Given the description of an element on the screen output the (x, y) to click on. 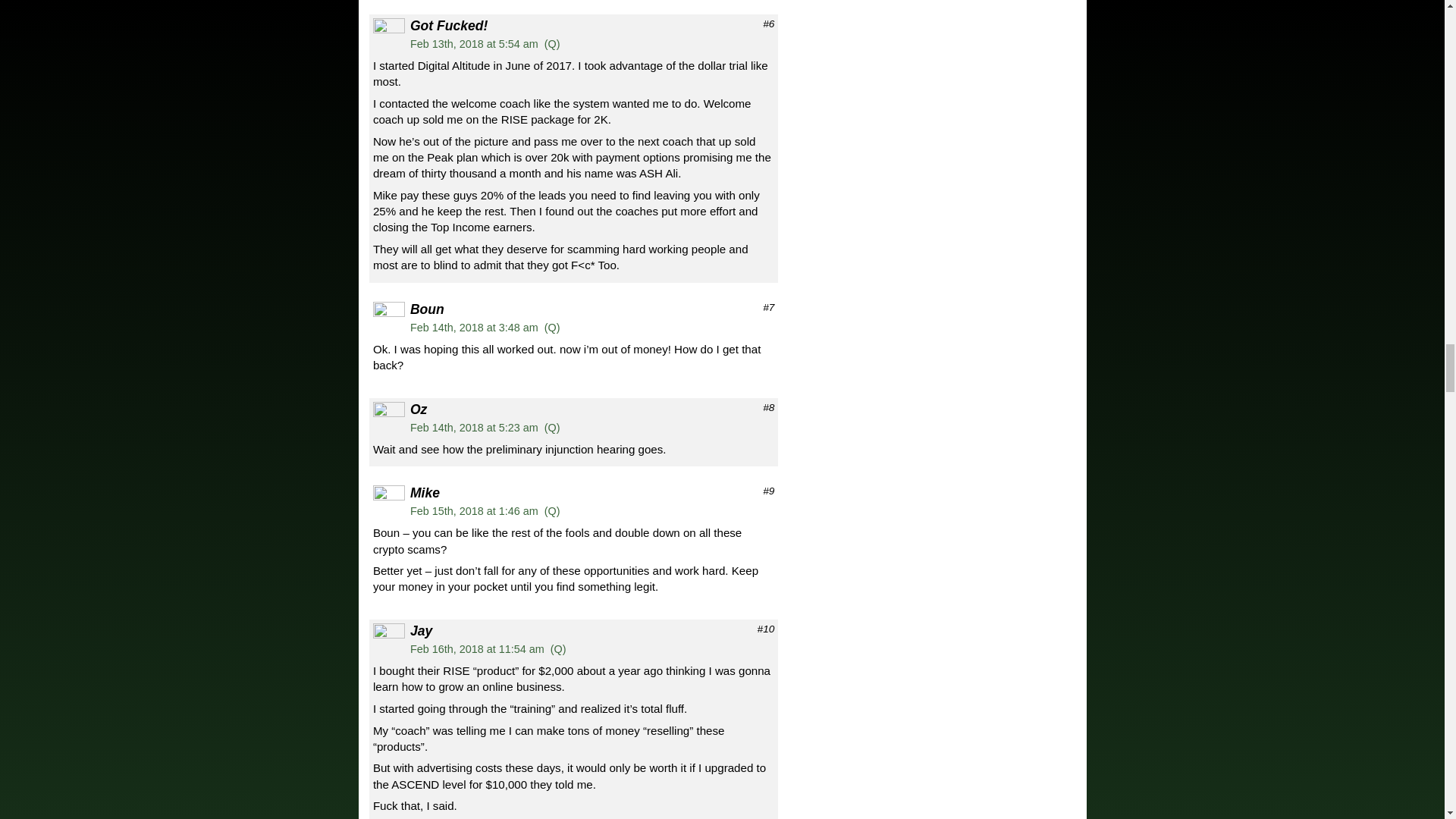
Feb 14th, 2018 at 3:48 am (474, 327)
Feb 13th, 2018 at 5:54 am (474, 43)
Feb 15th, 2018 at 1:46 am (474, 510)
Feb 14th, 2018 at 5:23 am (474, 427)
Feb 16th, 2018 at 11:54 am (477, 648)
